Given the description of an element on the screen output the (x, y) to click on. 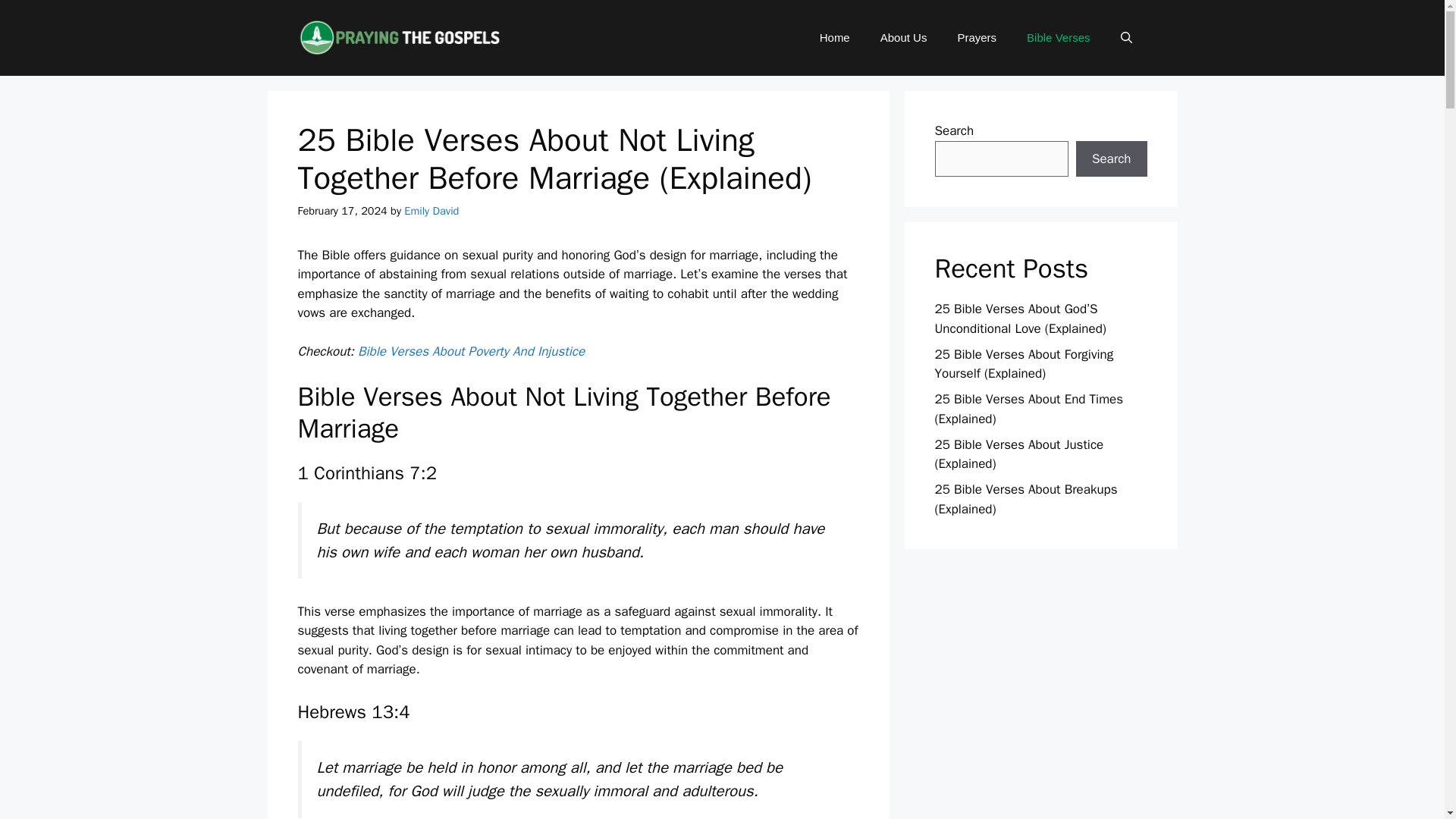
Bible Verses About Poverty And Injustice (471, 351)
Emily David (431, 210)
About Us (903, 37)
Bible Verses (1058, 37)
Home (834, 37)
Search (1111, 158)
Prayers (976, 37)
View all posts by Emily David (431, 210)
